Given the description of an element on the screen output the (x, y) to click on. 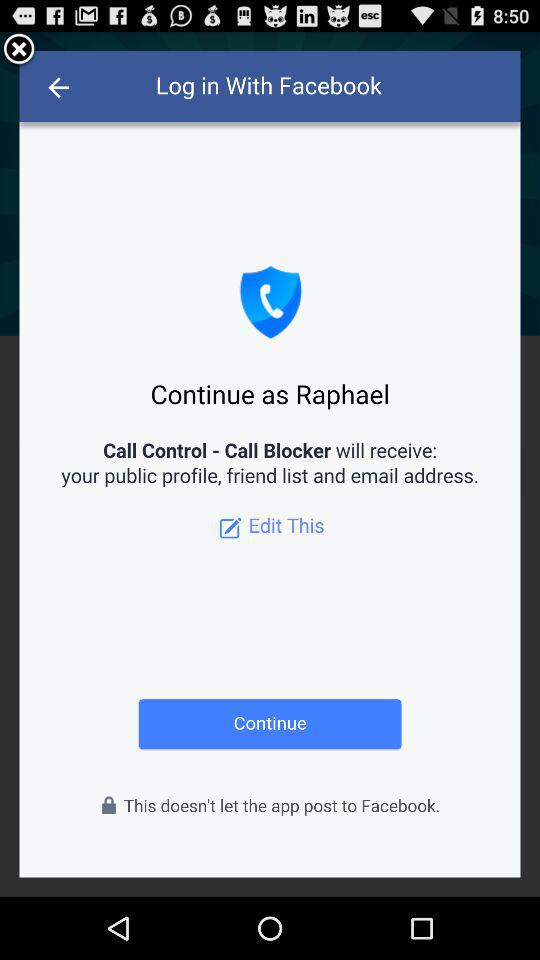
launch the icon at the center (269, 464)
